Given the description of an element on the screen output the (x, y) to click on. 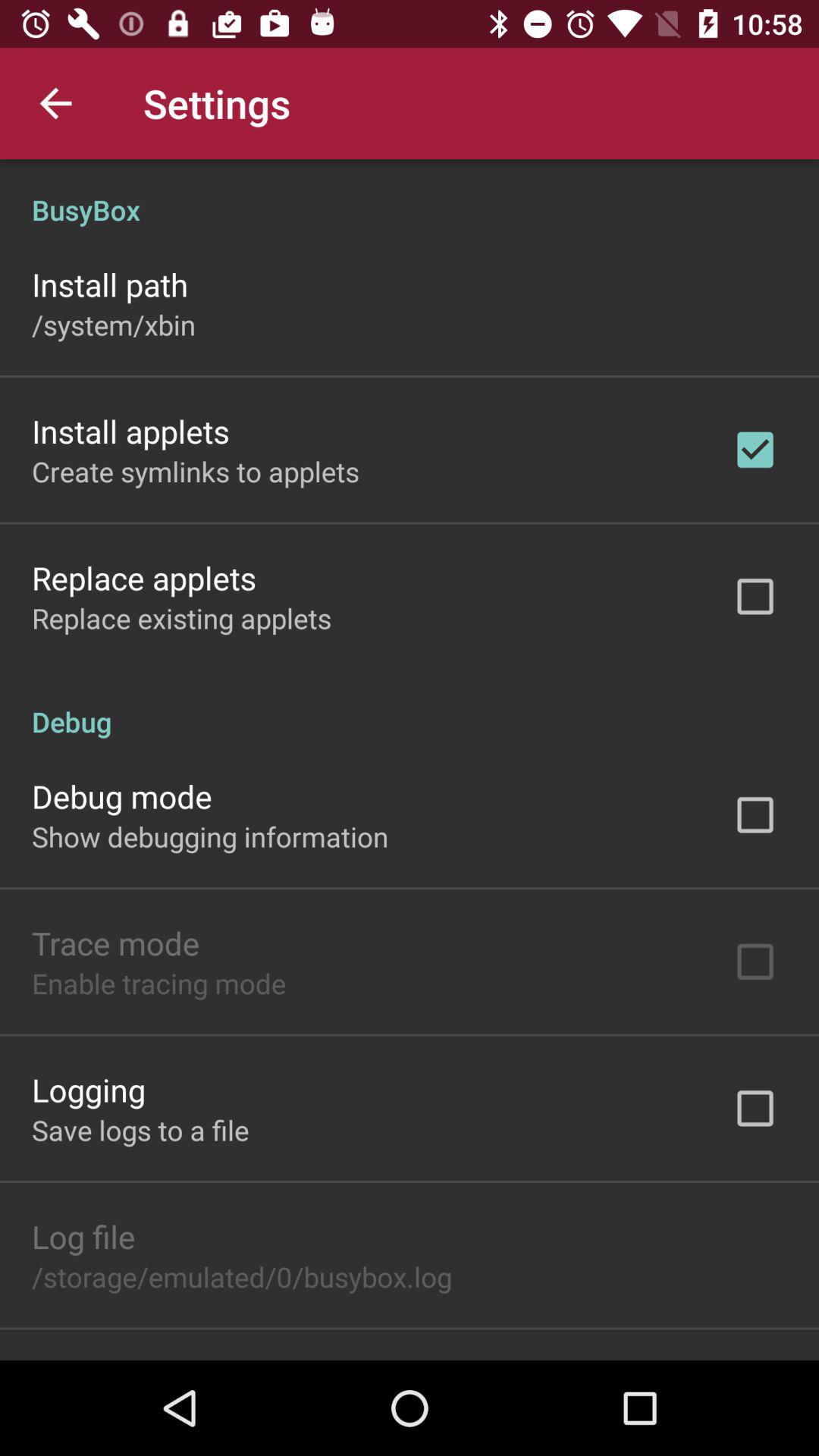
scroll to install applets (130, 430)
